Given the description of an element on the screen output the (x, y) to click on. 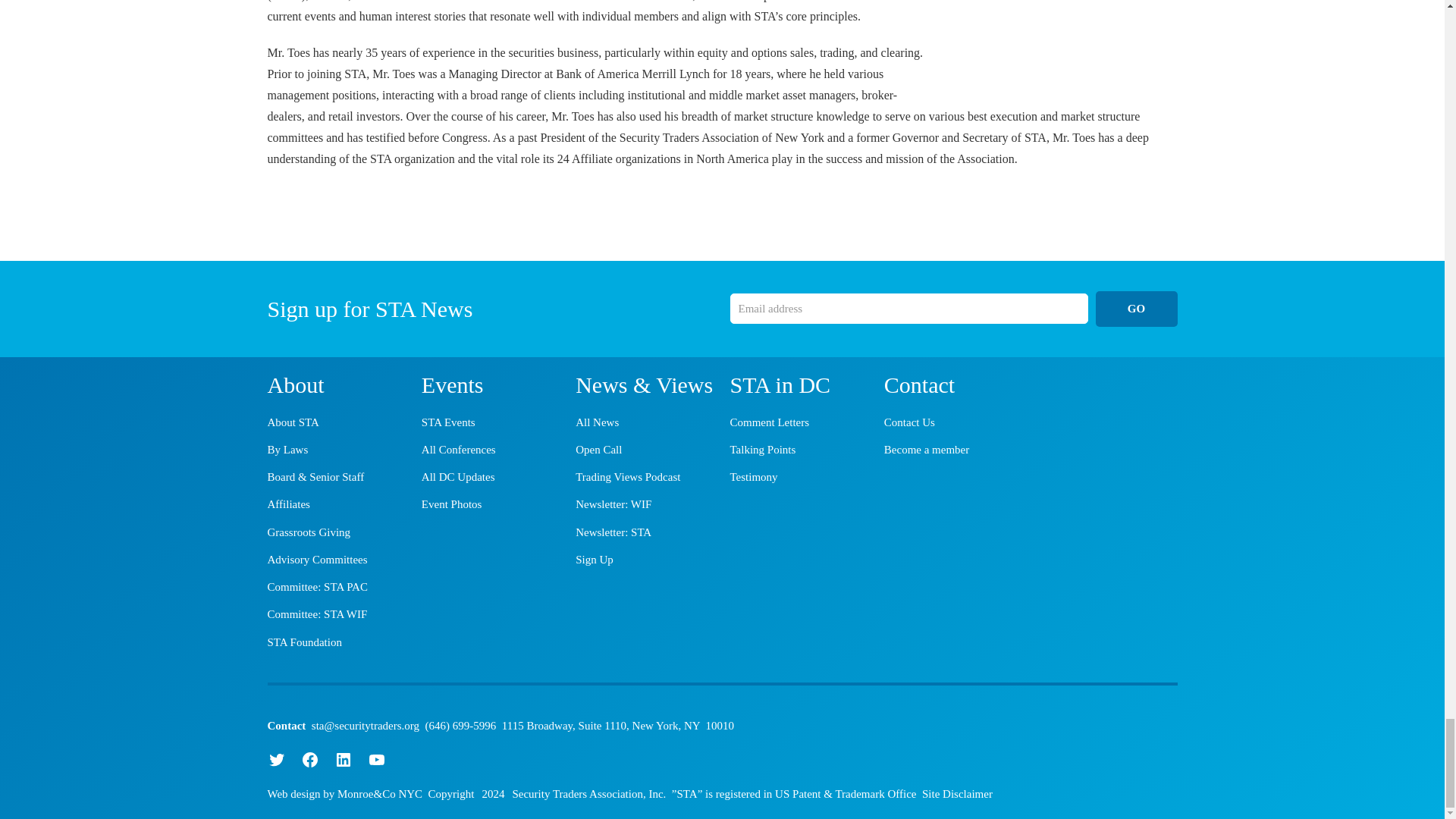
GO (1135, 308)
